Given the description of an element on the screen output the (x, y) to click on. 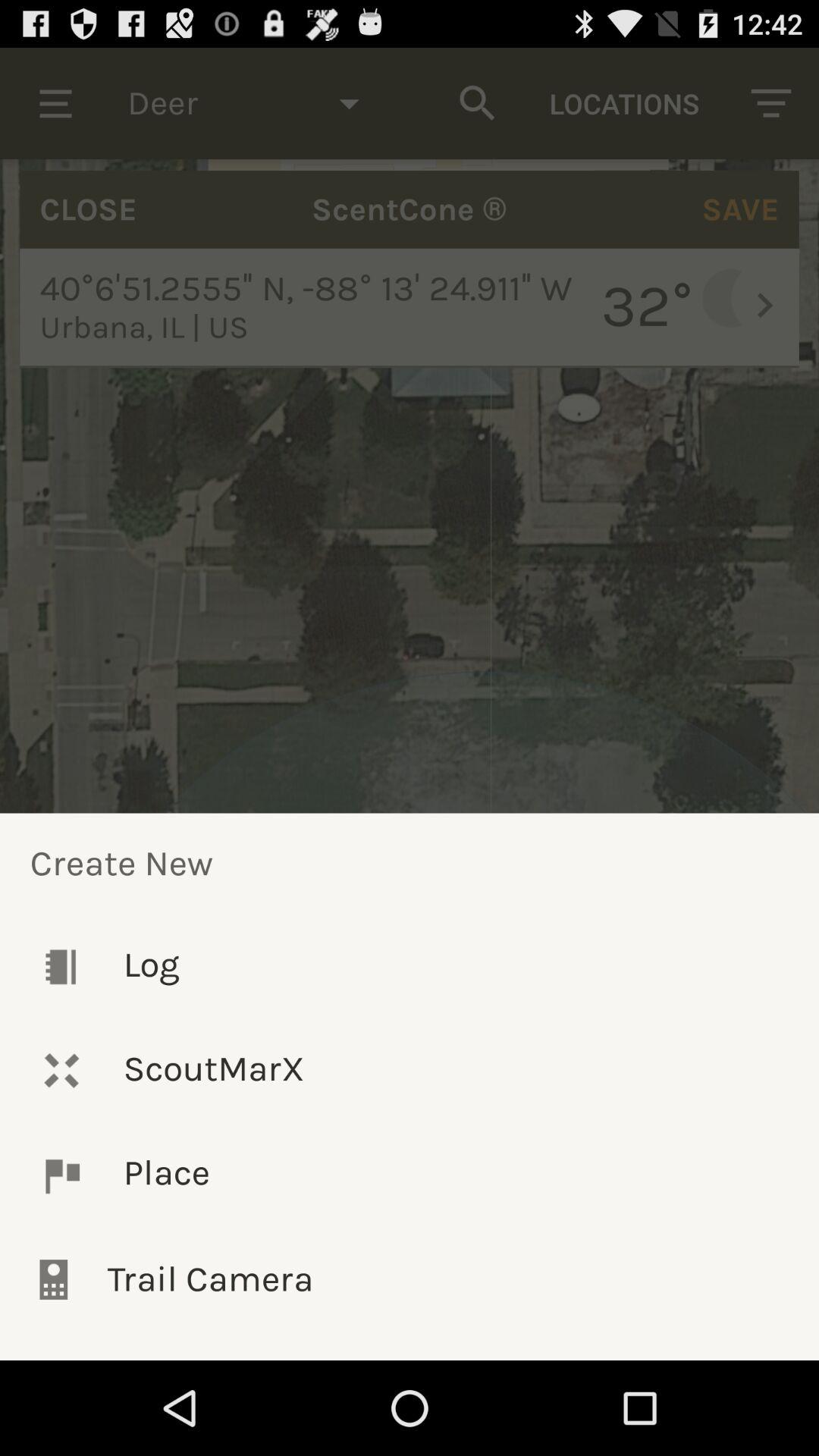
click the item above the trail camera (409, 1175)
